Given the description of an element on the screen output the (x, y) to click on. 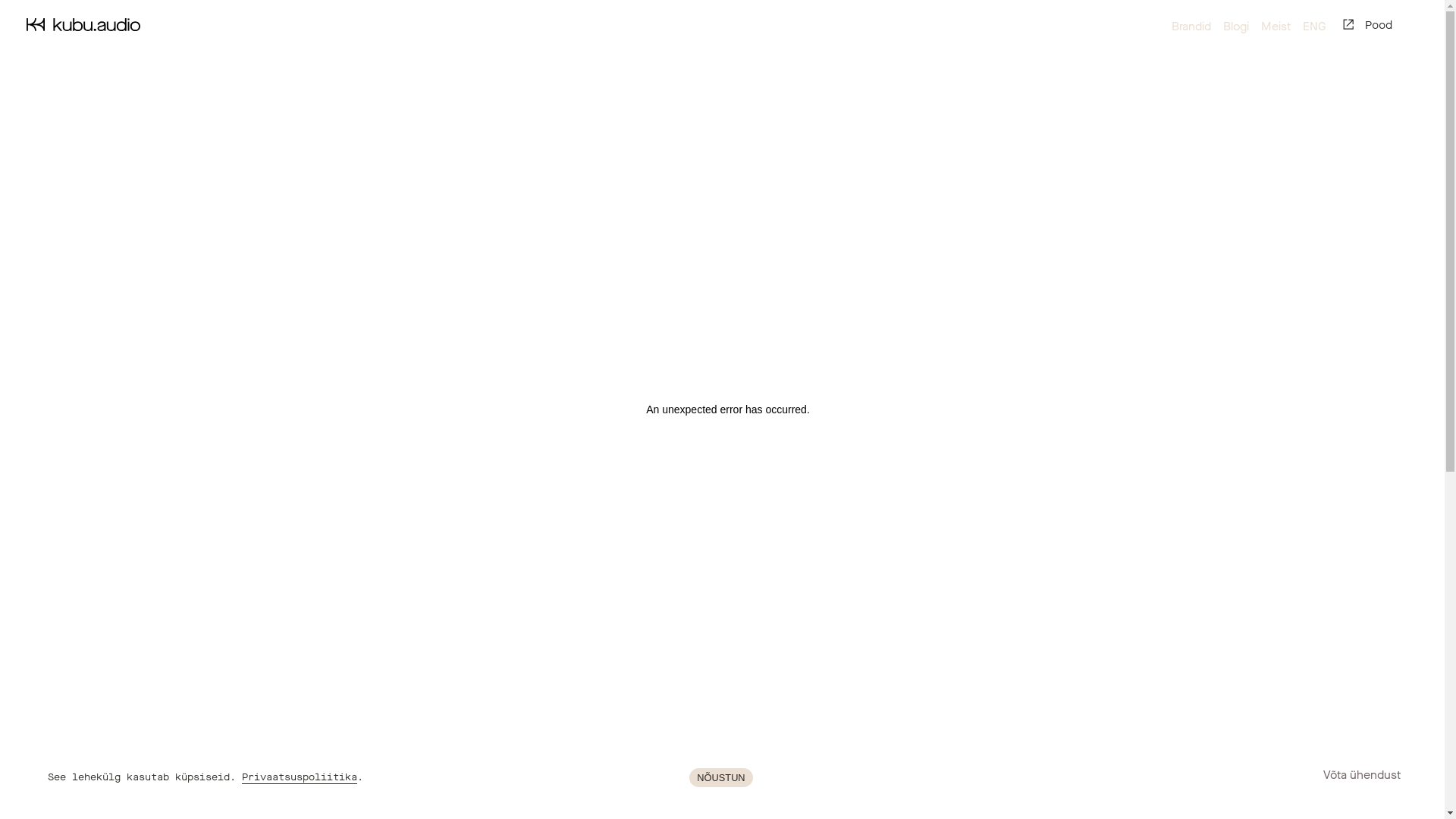
Blogi Element type: text (1235, 26)
Meist Element type: text (1275, 26)
Pood Element type: text (1367, 24)
Brandid Element type: text (1191, 26)
ENG Element type: text (1313, 26)
Privaatsuspoliitika Element type: text (299, 777)
